Given the description of an element on the screen output the (x, y) to click on. 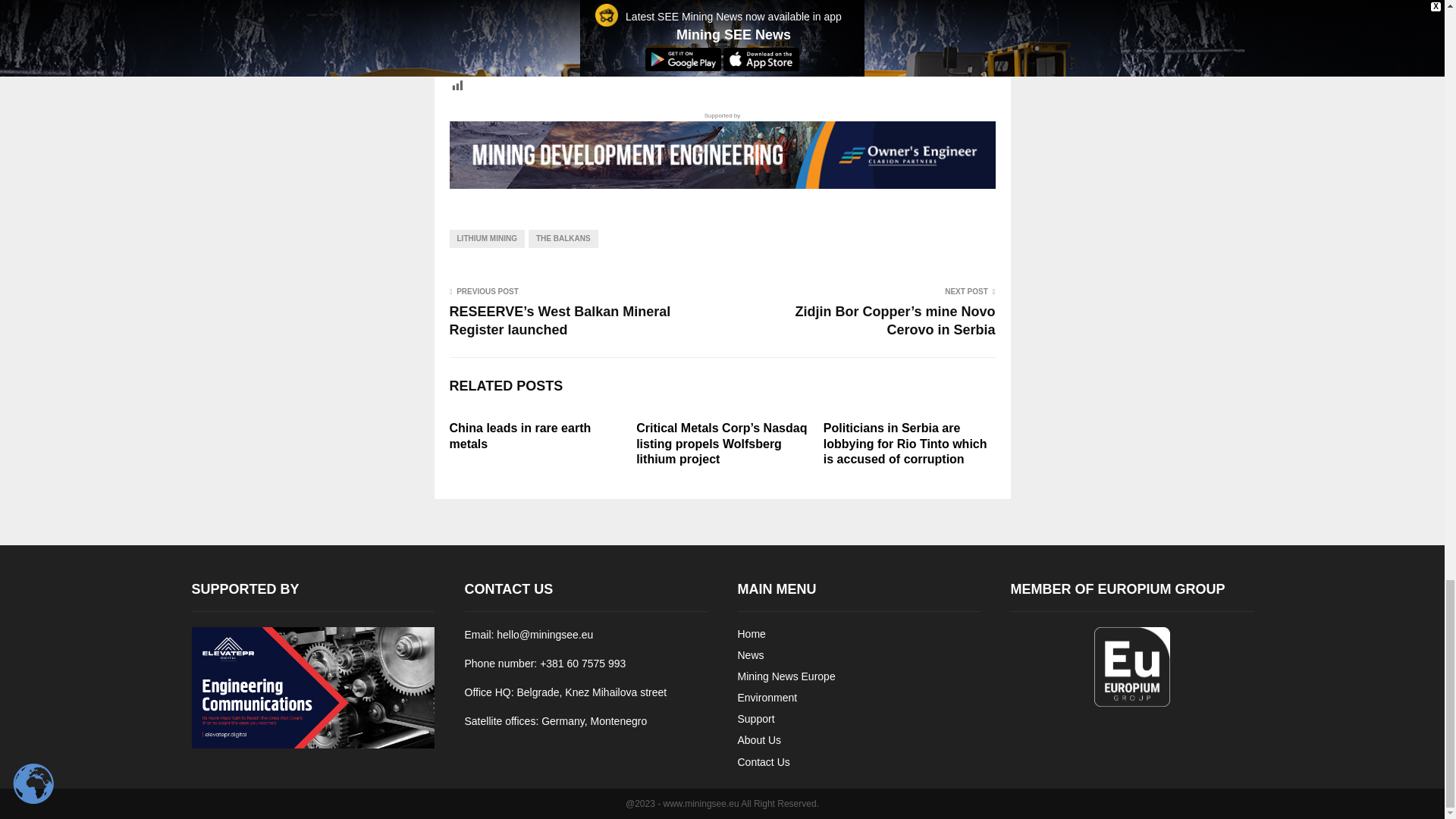
Supported by (721, 149)
China leads in rare earth metals (519, 435)
LITHIUM MINING (486, 239)
THE BALKANS (563, 239)
